Given the description of an element on the screen output the (x, y) to click on. 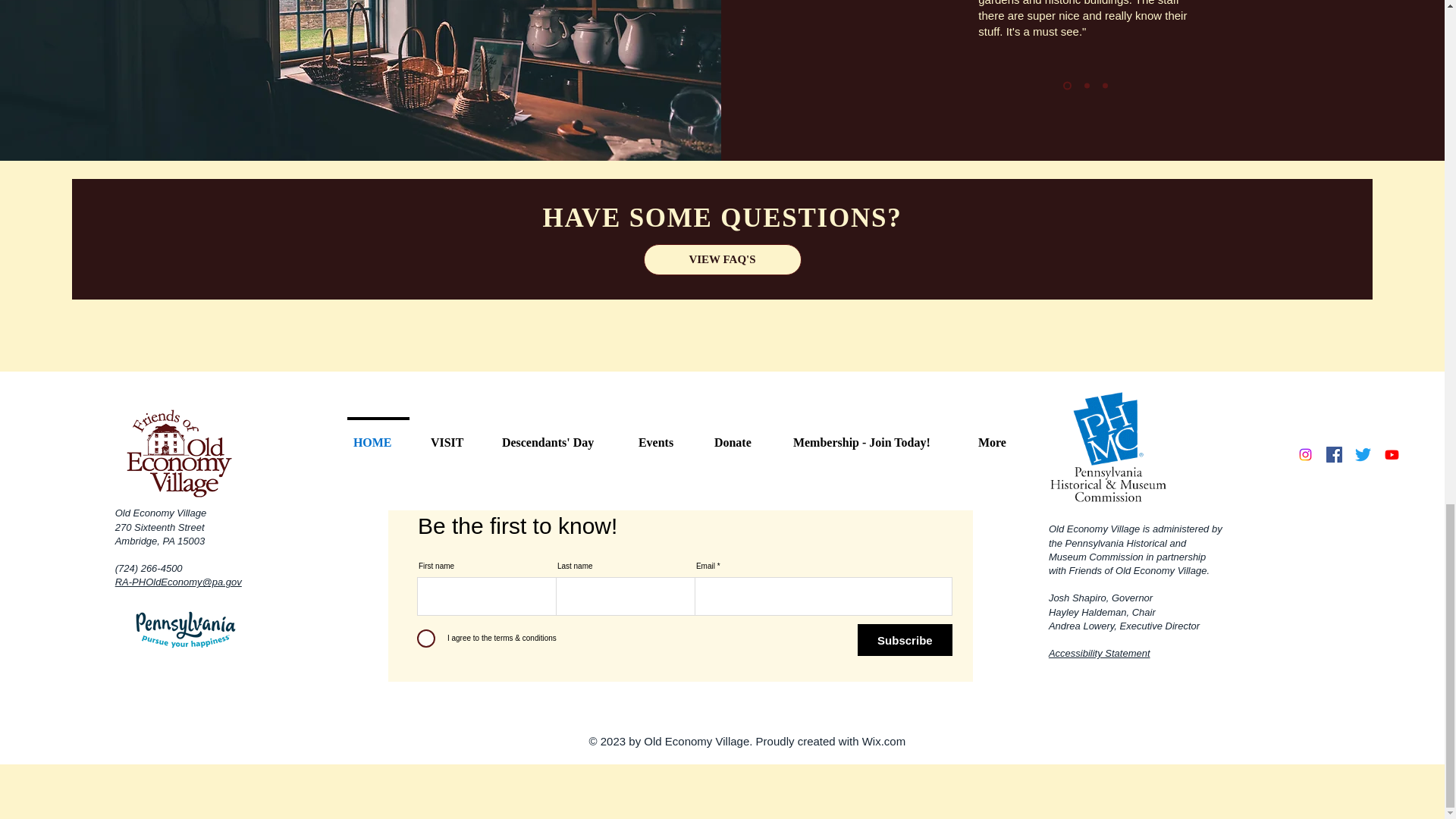
VIEW FAQ'S (721, 259)
